Given the description of an element on the screen output the (x, y) to click on. 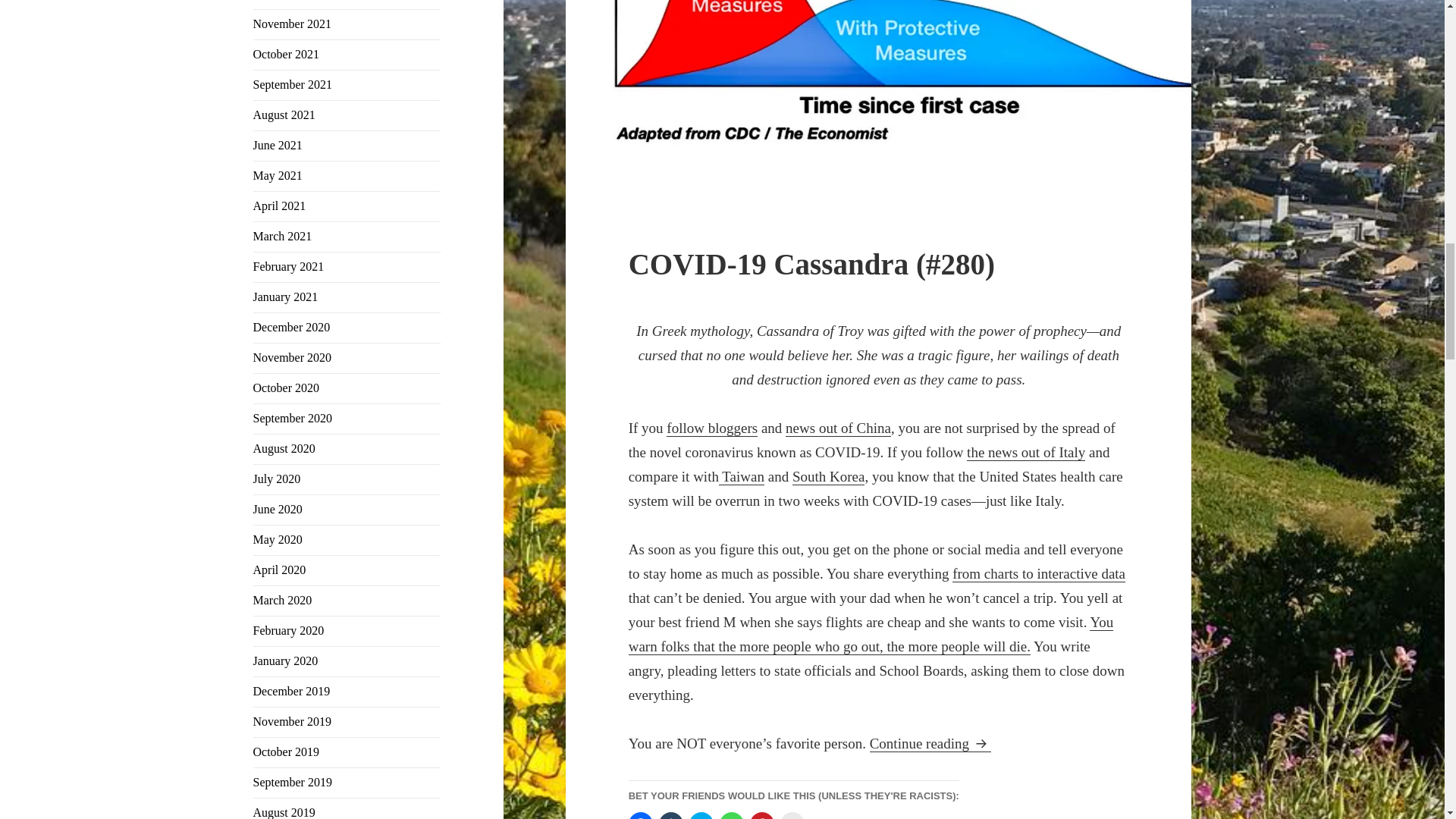
Click to email a link to a friend (792, 815)
Click to share on Tumblr (670, 815)
Click to share on Pinterest (761, 815)
Click to share on Facebook (640, 815)
Click to share on WhatsApp (731, 815)
Click to share on Twitter (700, 815)
